Given the description of an element on the screen output the (x, y) to click on. 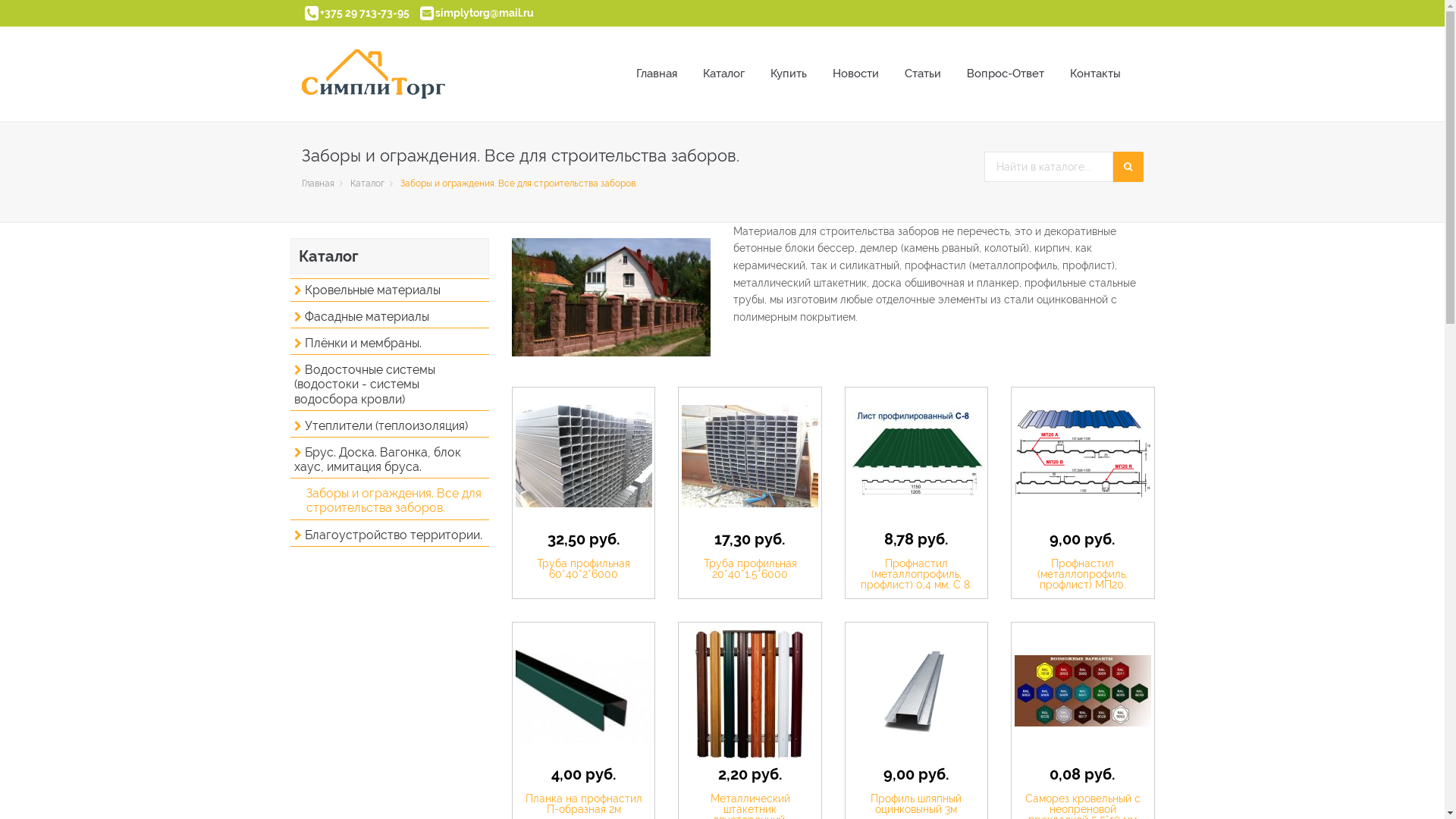
simplytorg@mail.ru Element type: text (484, 12)
